Given the description of an element on the screen output the (x, y) to click on. 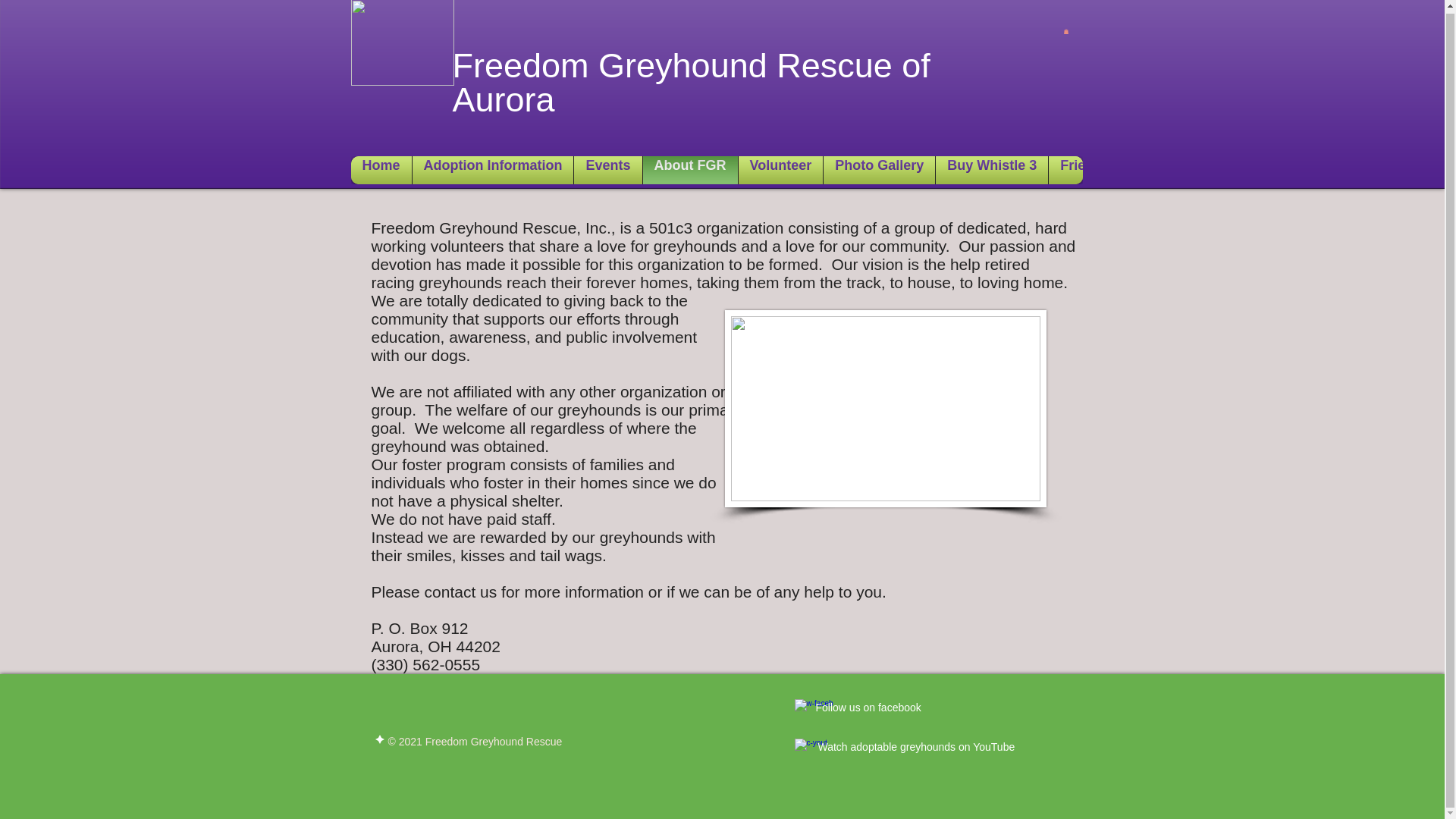
Volunteer (779, 170)
About FGR (689, 170)
Home (381, 170)
logo1.png (401, 42)
Events (607, 170)
Buy Whistle 3 (991, 170)
Photo Gallery (879, 170)
Adoption Information (493, 170)
Friends of FGR (1109, 170)
